Given the description of an element on the screen output the (x, y) to click on. 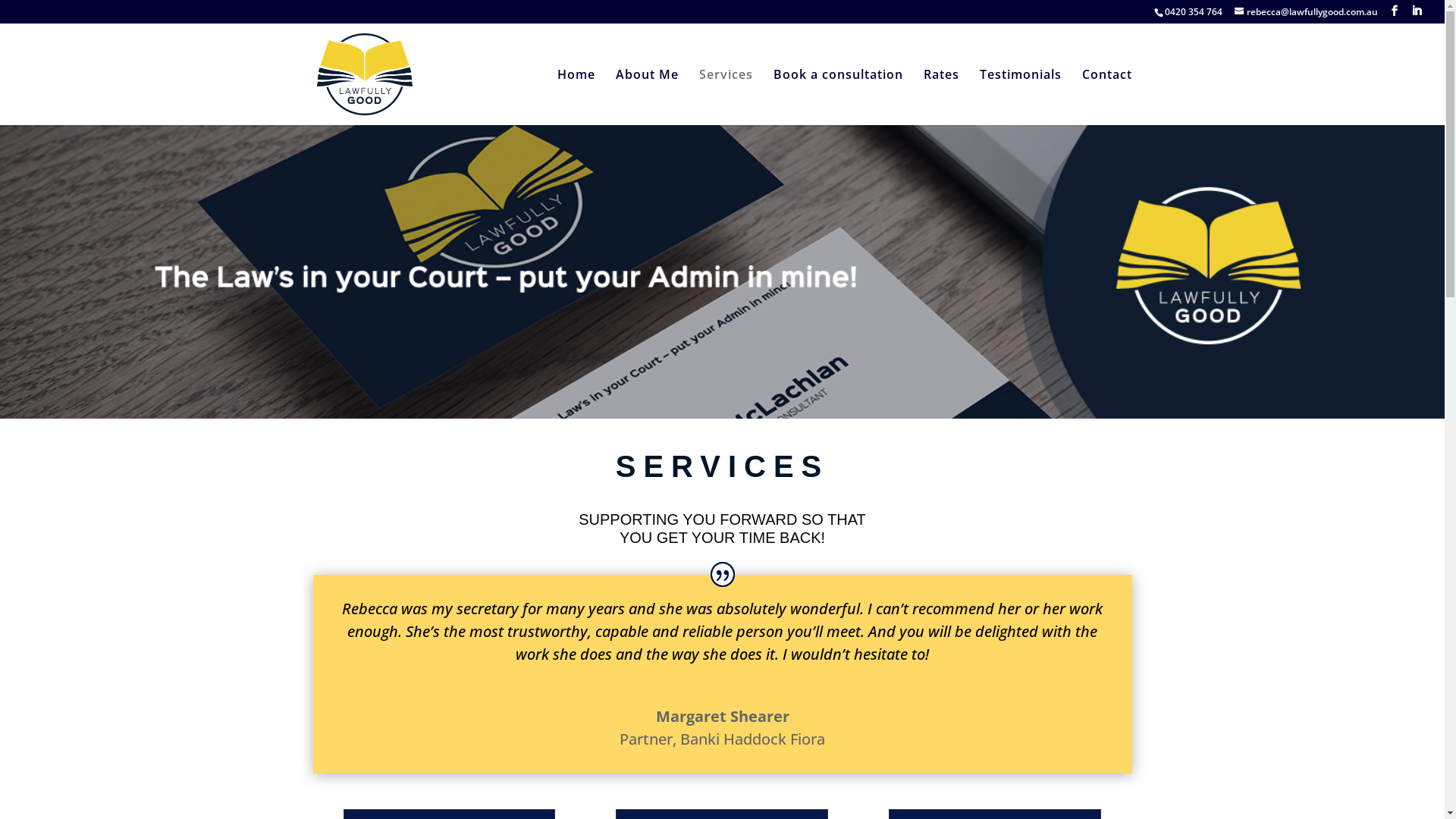
About Me Element type: text (646, 97)
Home Element type: text (575, 97)
rebecca@lawfullygood.com.au Element type: text (1305, 11)
Testimonials Element type: text (1020, 97)
Rates Element type: text (941, 97)
Book a consultation Element type: text (838, 97)
Contact Element type: text (1106, 97)
Services Element type: text (726, 97)
